Given the description of an element on the screen output the (x, y) to click on. 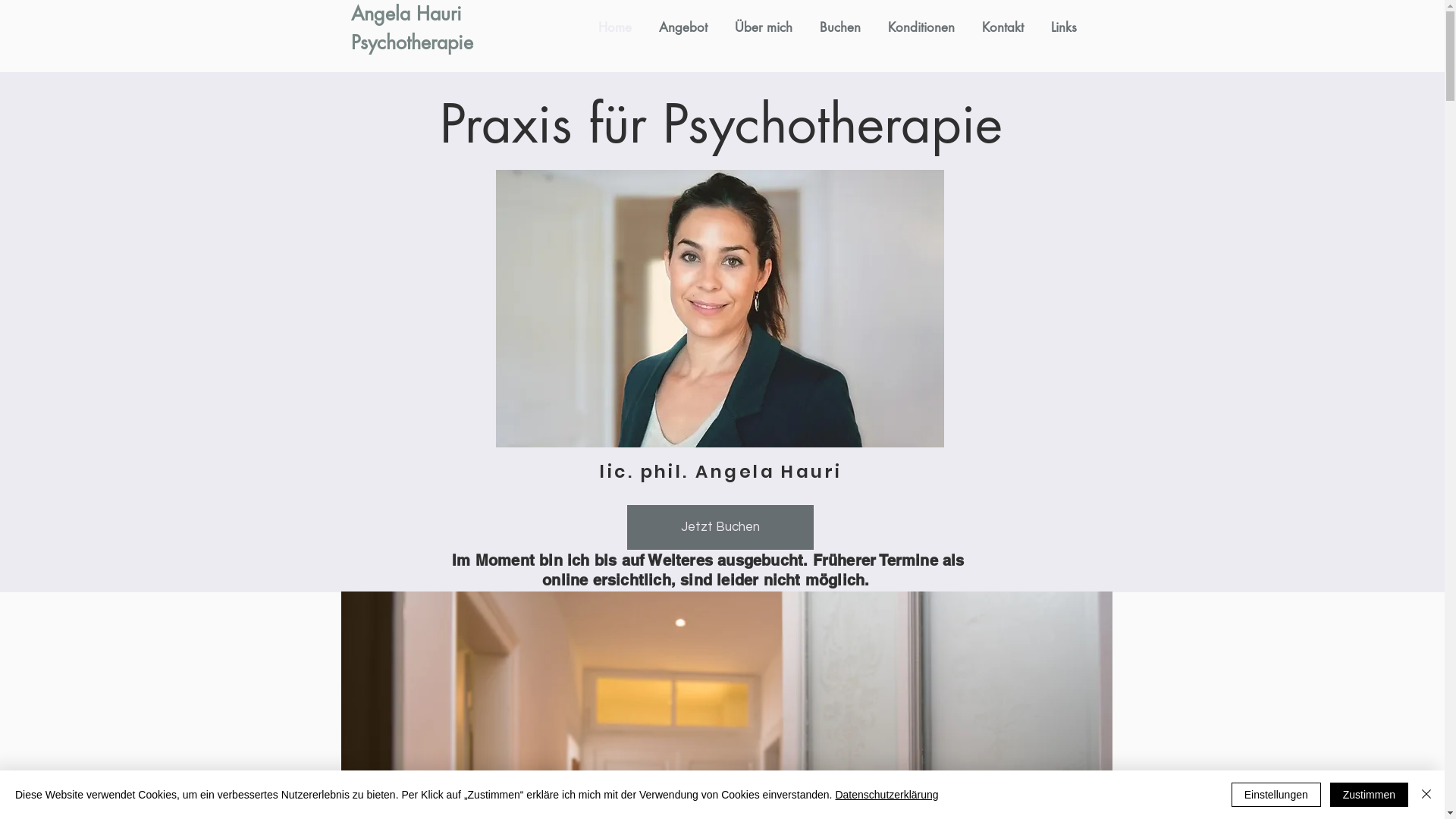
Home Element type: text (613, 27)
Zustimmen Element type: text (1369, 794)
Jetzt Buchen Element type: text (719, 527)
Angebot Element type: text (682, 27)
Konditionen Element type: text (920, 27)
Einstellungen Element type: text (1276, 794)
Links Element type: text (1063, 27)
Buchen Element type: text (839, 27)
Kontakt Element type: text (1001, 27)
